Given the description of an element on the screen output the (x, y) to click on. 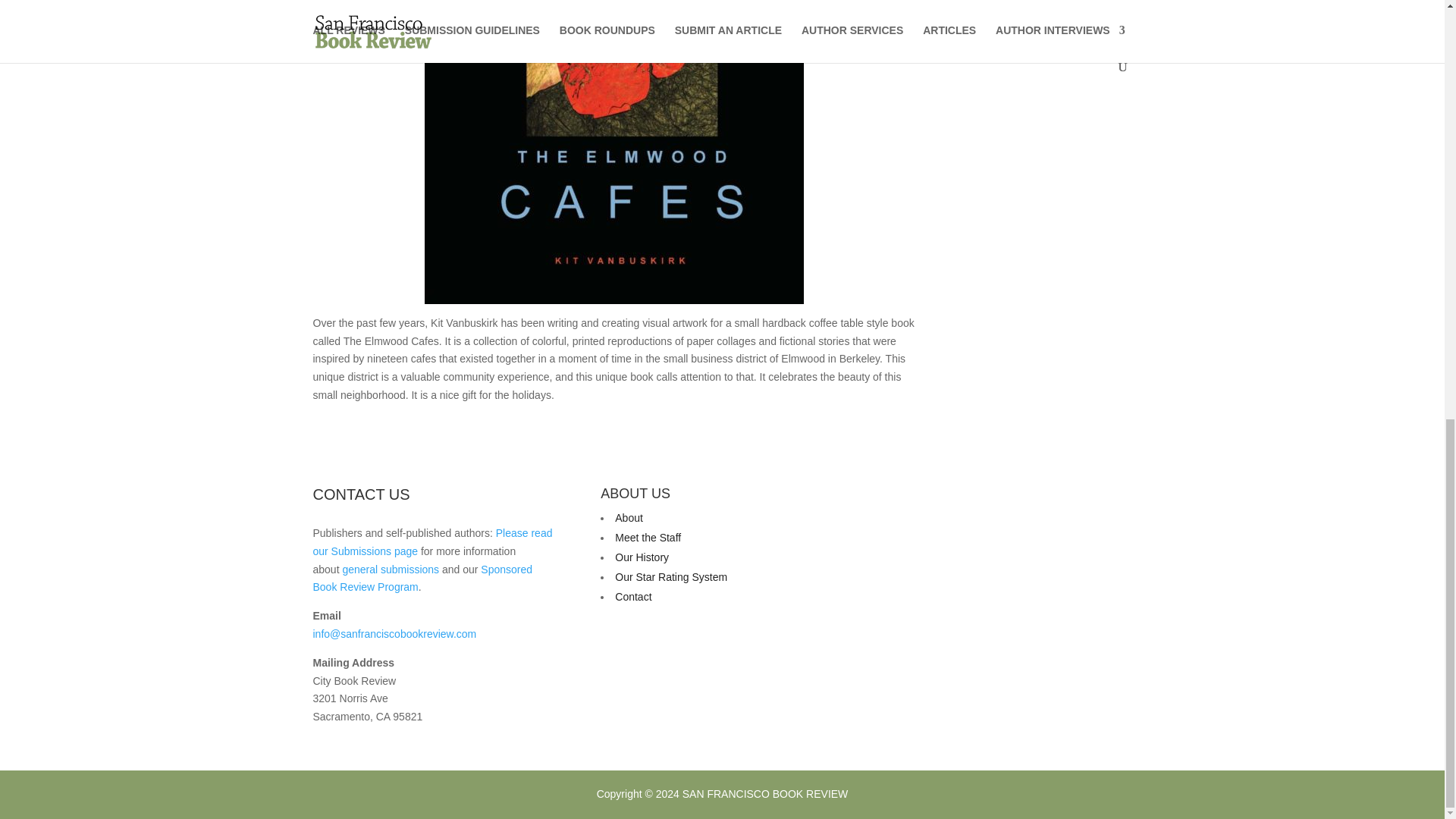
SAN FRANCISCO BOOK REVIEW (765, 793)
Our History (641, 557)
Sponsored Book Review Program (422, 578)
About (628, 517)
Please read our Submissions page (432, 542)
Meet the Staff (647, 537)
general submissions (390, 569)
Contact (632, 596)
Our Star Rating System (670, 576)
Submitting Books for Review (432, 542)
